Given the description of an element on the screen output the (x, y) to click on. 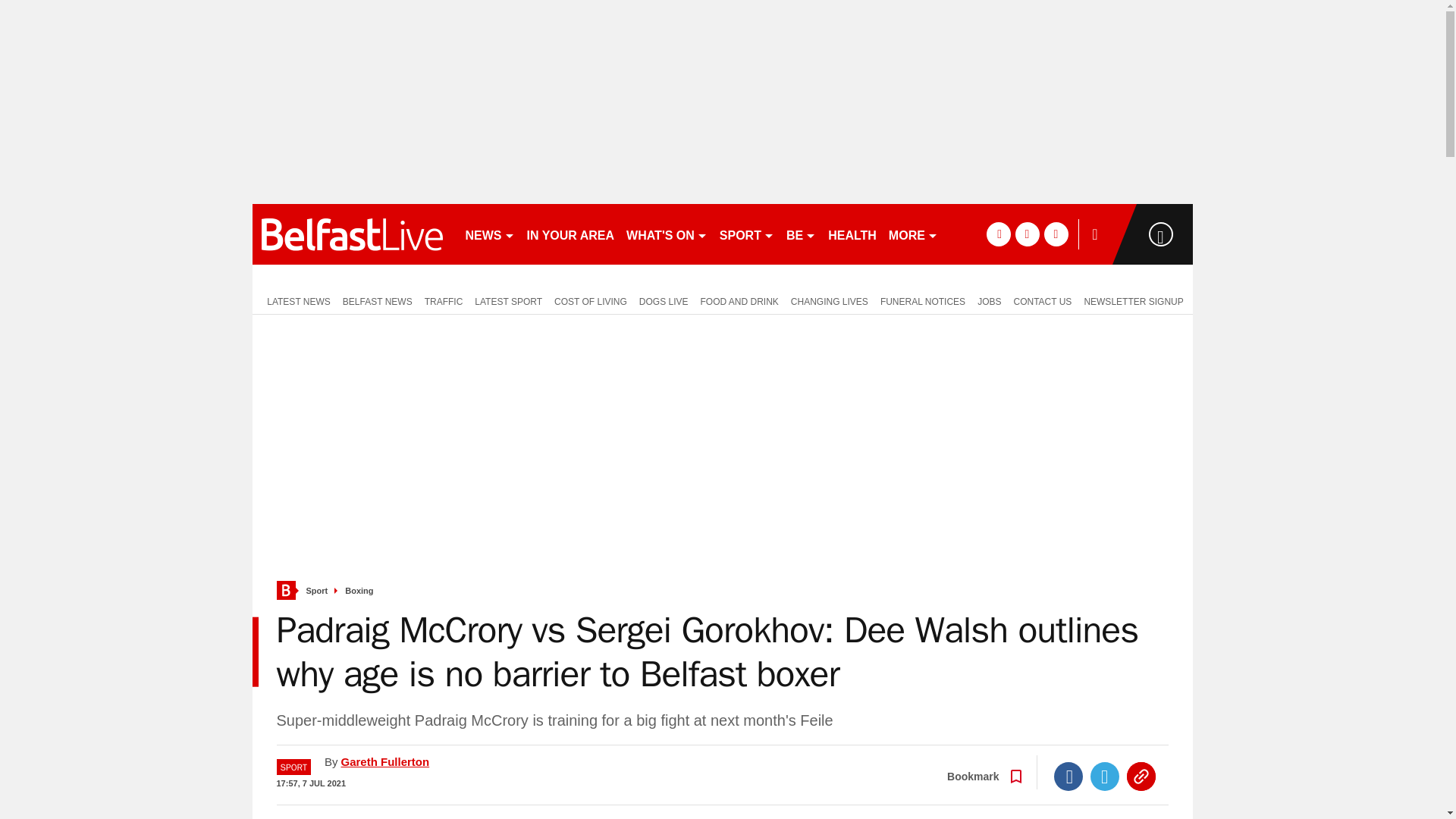
instagram (1055, 233)
Facebook (1068, 776)
belfastlive (351, 233)
twitter (1026, 233)
facebook (997, 233)
NEWS (490, 233)
WHAT'S ON (666, 233)
Twitter (1104, 776)
SPORT (746, 233)
IN YOUR AREA (569, 233)
